Given the description of an element on the screen output the (x, y) to click on. 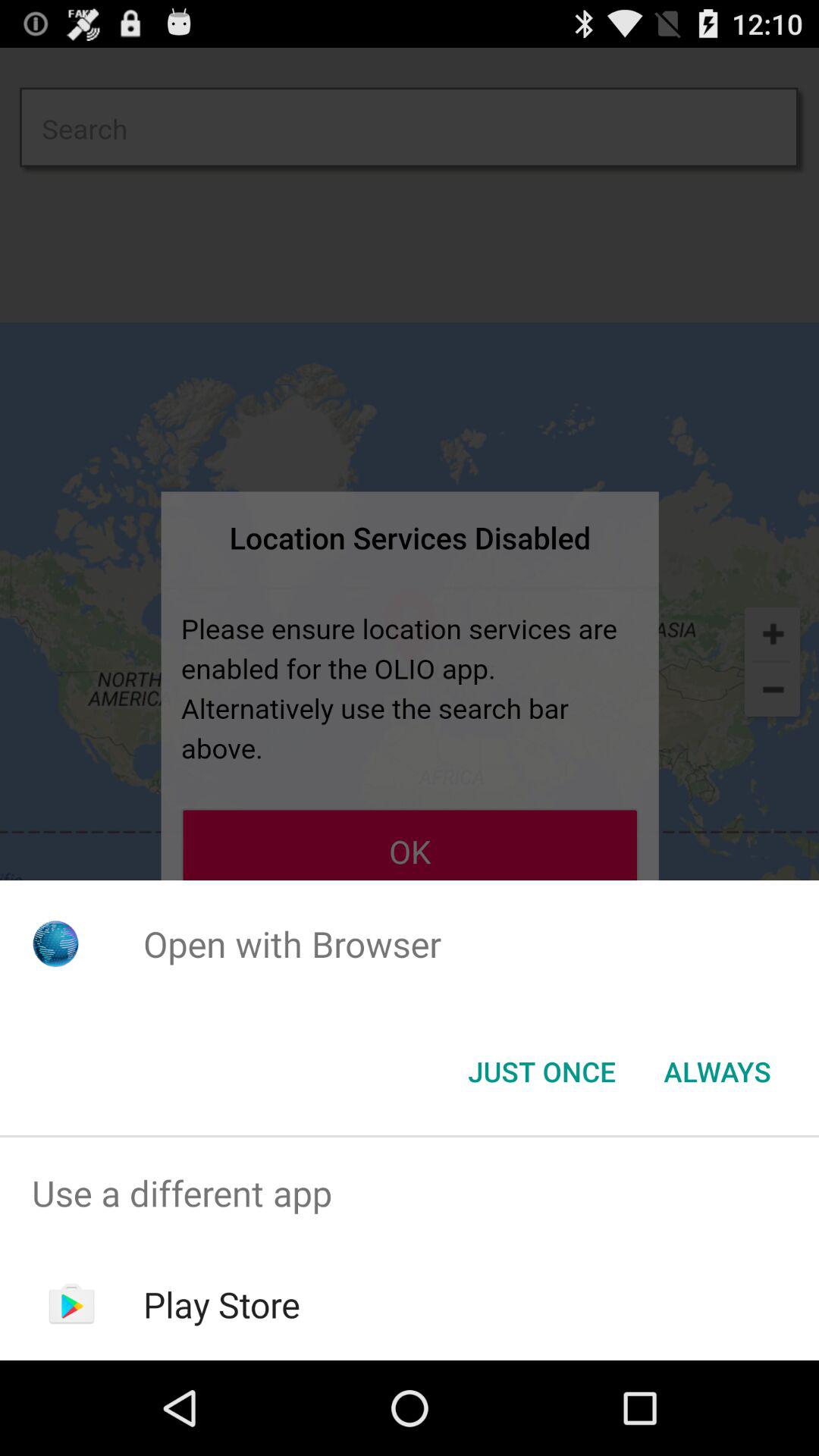
turn on the use a different item (409, 1192)
